Given the description of an element on the screen output the (x, y) to click on. 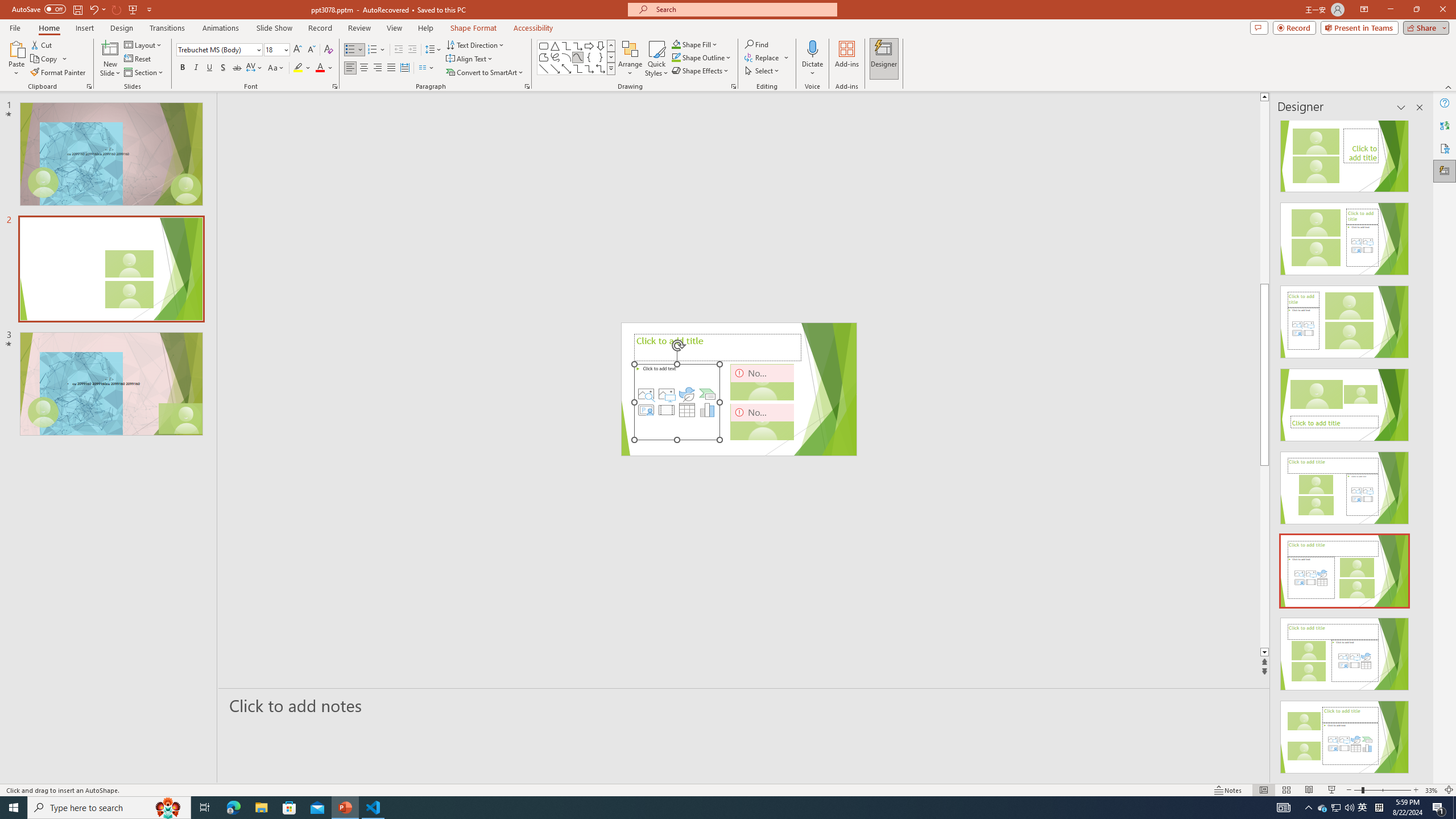
Insert Table (686, 409)
Shape Fill Dark Green, Accent 2 (675, 44)
Insert an Icon (686, 394)
